Given the description of an element on the screen output the (x, y) to click on. 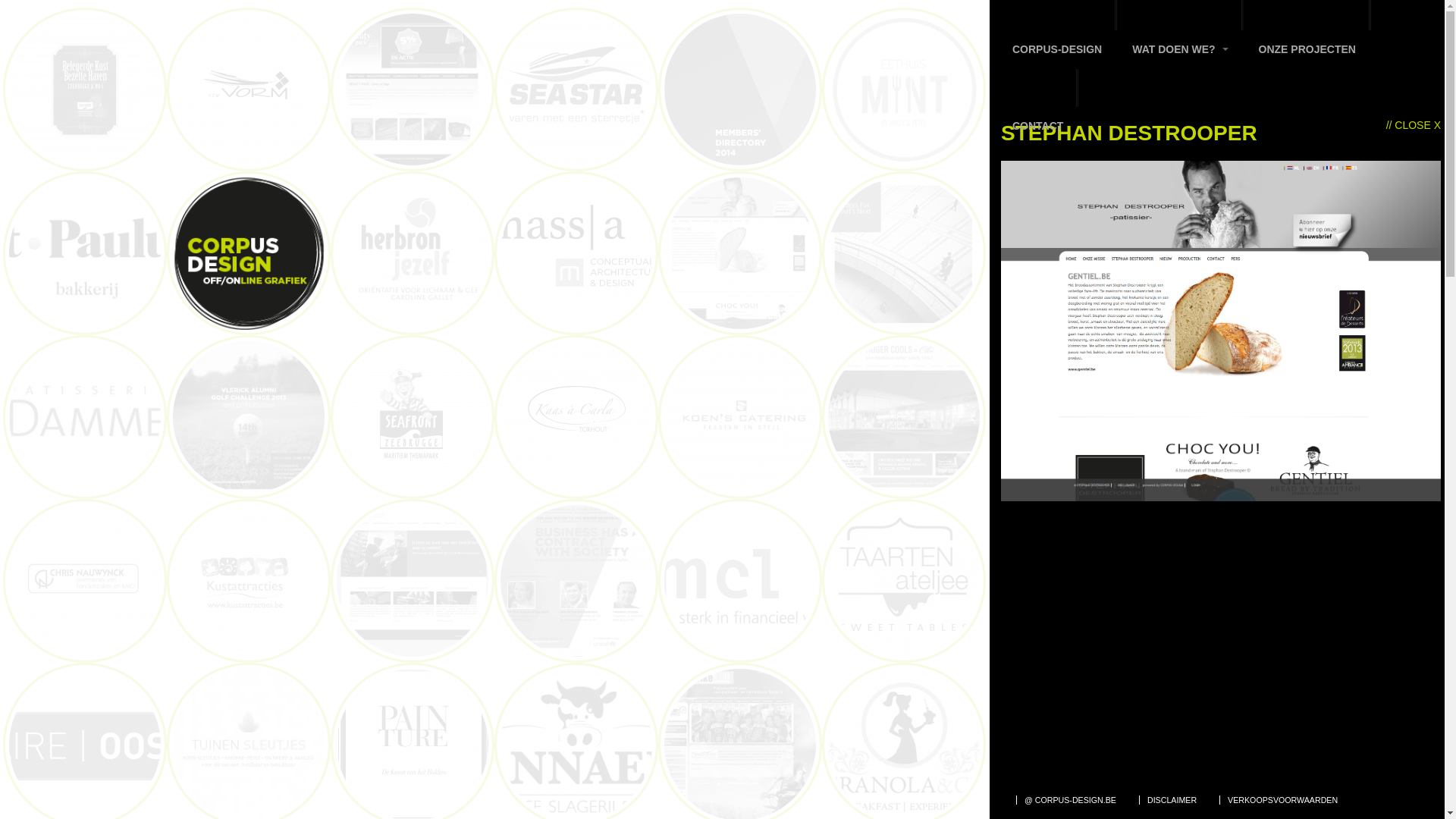
STEPHAN DESTROOPER Element type: hover (1220, 497)
@ CORPUS-DESIGN.BE Element type: text (1069, 799)
CONTACT Element type: text (1037, 107)
Overslaan en naar de inhoud gaan Element type: text (658, 0)
DISCLAIMER Element type: text (1171, 799)
VERKOOPSVOORWAARDEN Element type: text (1282, 799)
CLOSE X Element type: text (1413, 125)
